Given the description of an element on the screen output the (x, y) to click on. 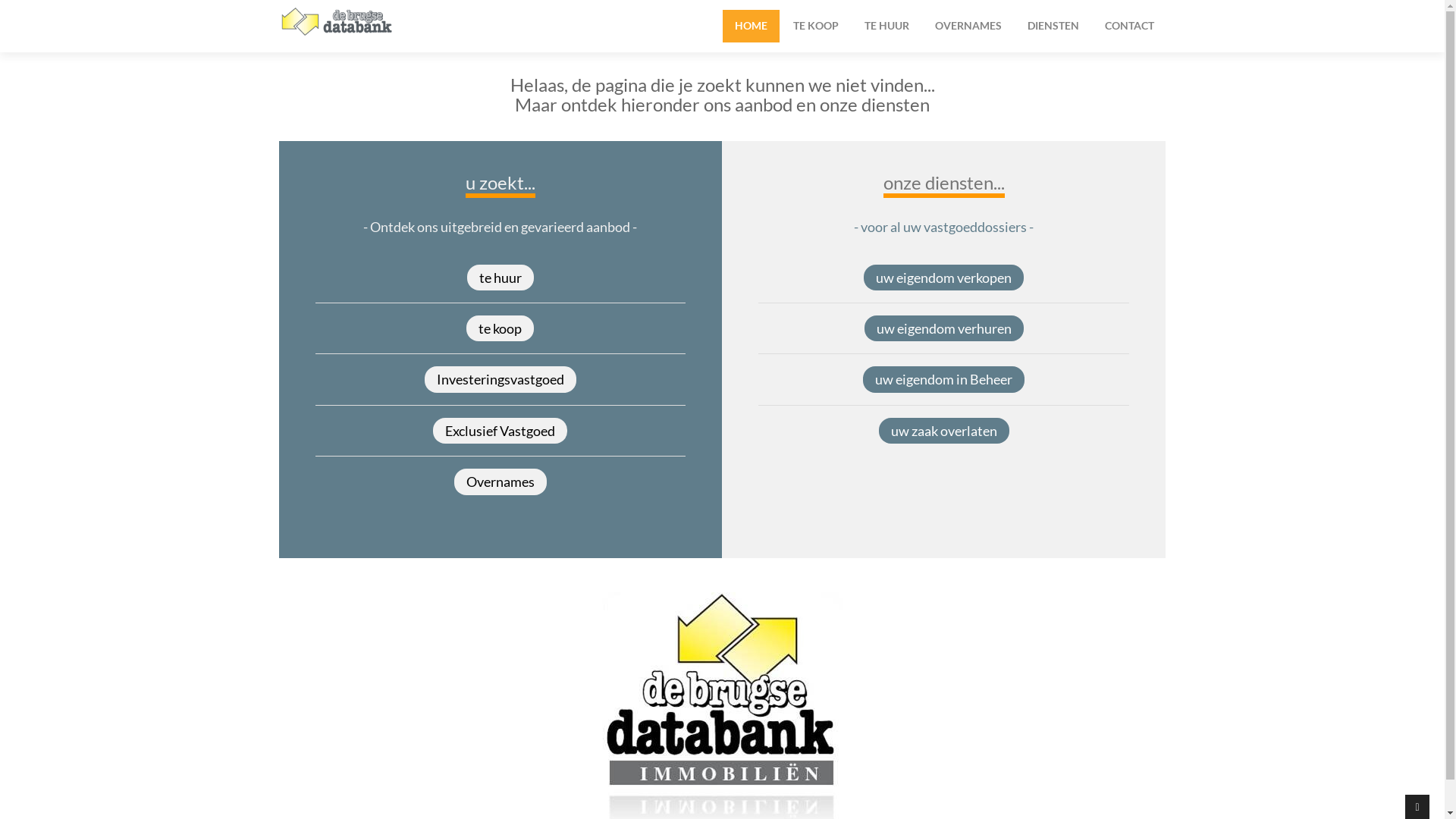
uw eigendom in Beheer Element type: text (943, 379)
Exclusief Vastgoed Element type: text (500, 430)
HOME Element type: text (749, 25)
OVERNAMES Element type: text (967, 25)
uw zaak overlaten Element type: text (943, 430)
TE KOOP Element type: text (815, 25)
uw eigendom verkopen Element type: text (943, 277)
CONTACT Element type: text (1128, 25)
uw eigendom verhuren Element type: text (943, 328)
te huur Element type: text (500, 277)
Investeringsvastgoed Element type: text (500, 379)
Overnames Element type: text (500, 481)
te koop Element type: text (499, 328)
TE HUUR Element type: text (886, 25)
DIENSTEN Element type: text (1052, 25)
